Given the description of an element on the screen output the (x, y) to click on. 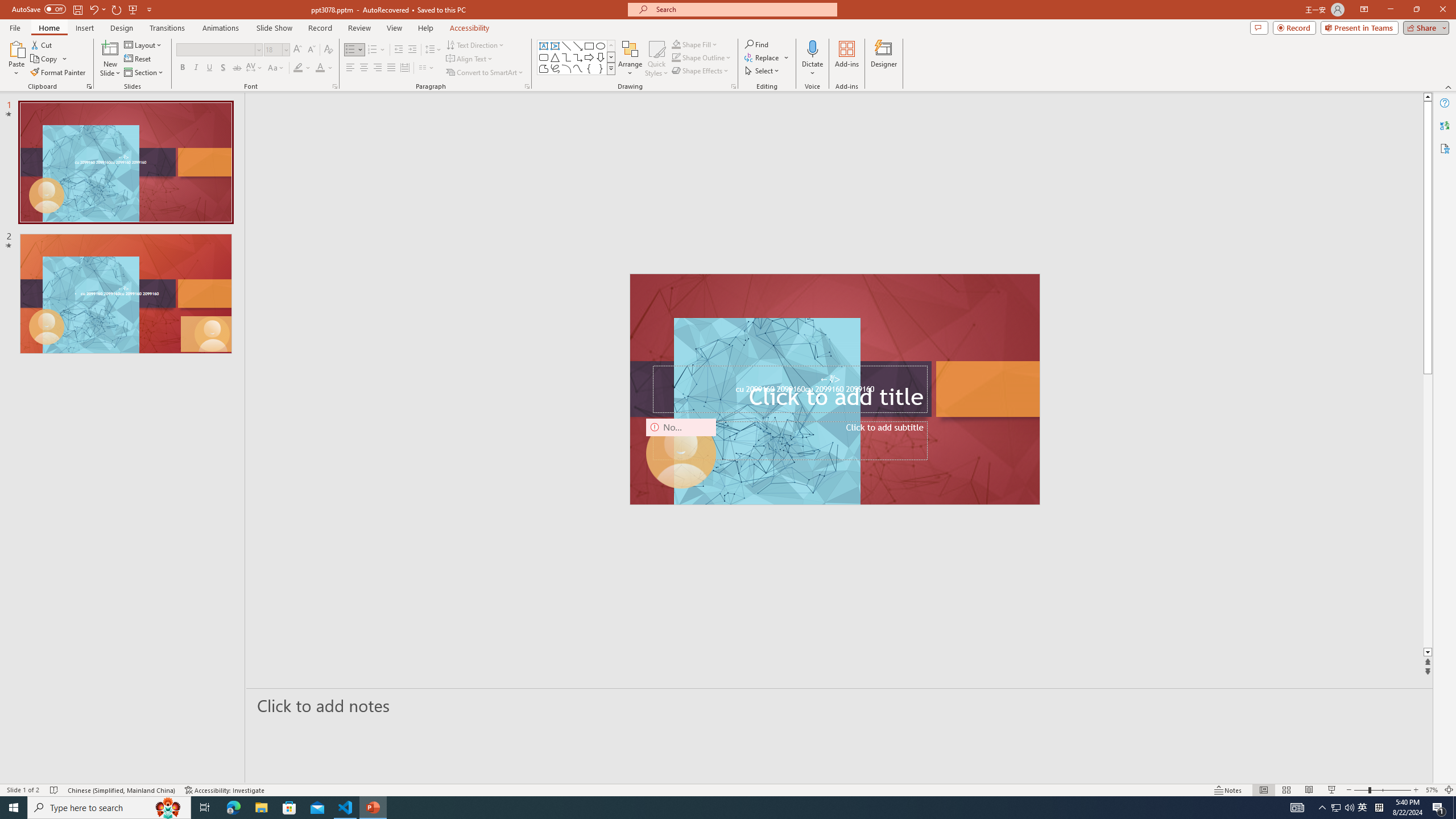
Reset (138, 58)
Arrow: Down (600, 57)
Line Spacing (433, 49)
Subtitle TextBox (789, 440)
Align Left (349, 67)
Vertical Text Box (554, 45)
Zoom 57% (1431, 790)
Arrow: Right (589, 57)
Arc (566, 68)
